Given the description of an element on the screen output the (x, y) to click on. 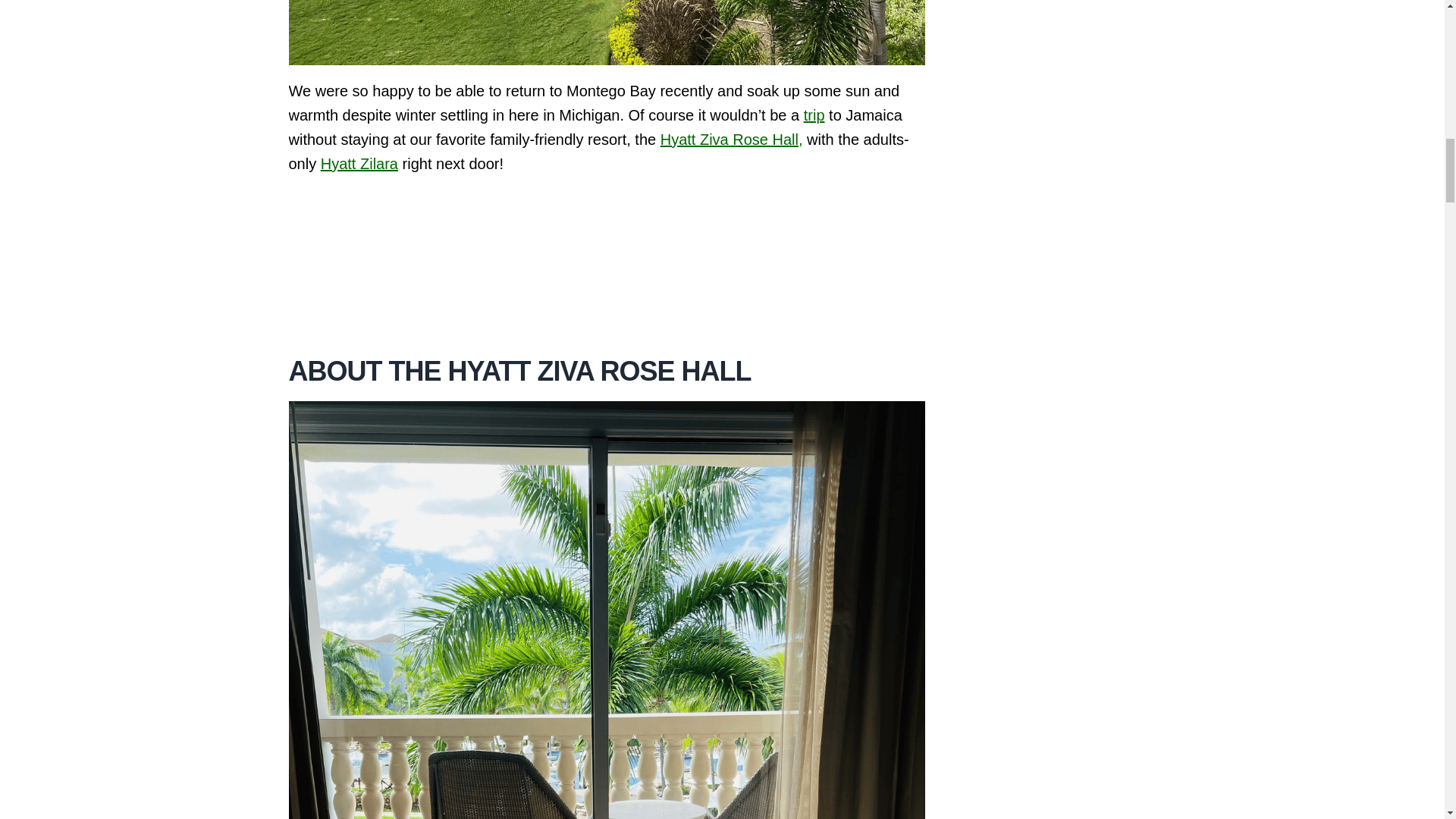
trip (814, 114)
Hyatt Zilara (358, 162)
Hyatt Ziva Rose Hall, (732, 138)
